Given the description of an element on the screen output the (x, y) to click on. 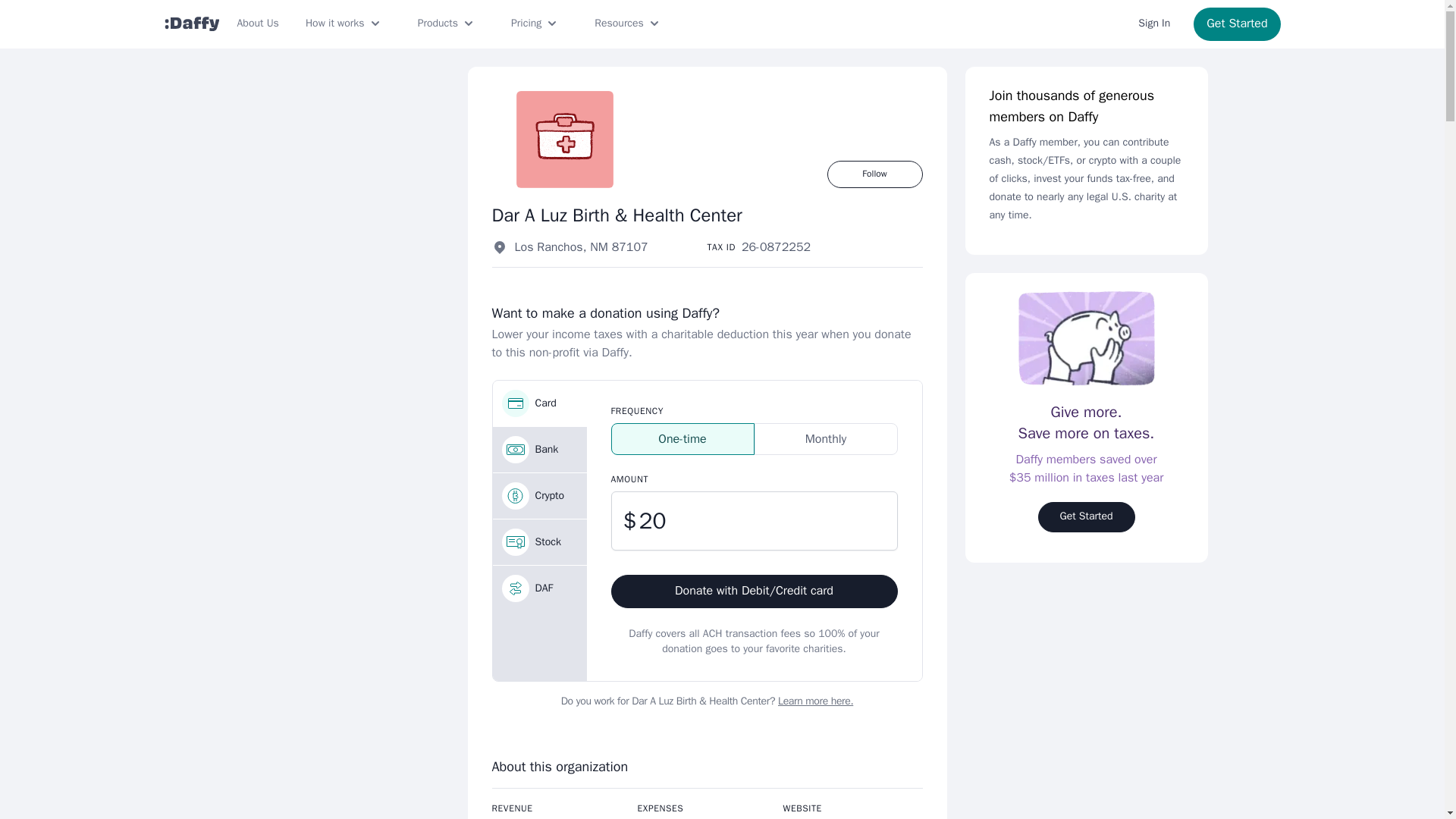
Monthly (825, 439)
About Us (256, 23)
Get Started (1236, 23)
Products (446, 24)
One-time (682, 439)
Sign In (1153, 24)
Crypto (539, 495)
Stock (539, 542)
20 (754, 520)
Follow (874, 174)
Card (539, 402)
DAF (539, 587)
Pricing (534, 24)
Resources (627, 24)
How it works (344, 24)
